Given the description of an element on the screen output the (x, y) to click on. 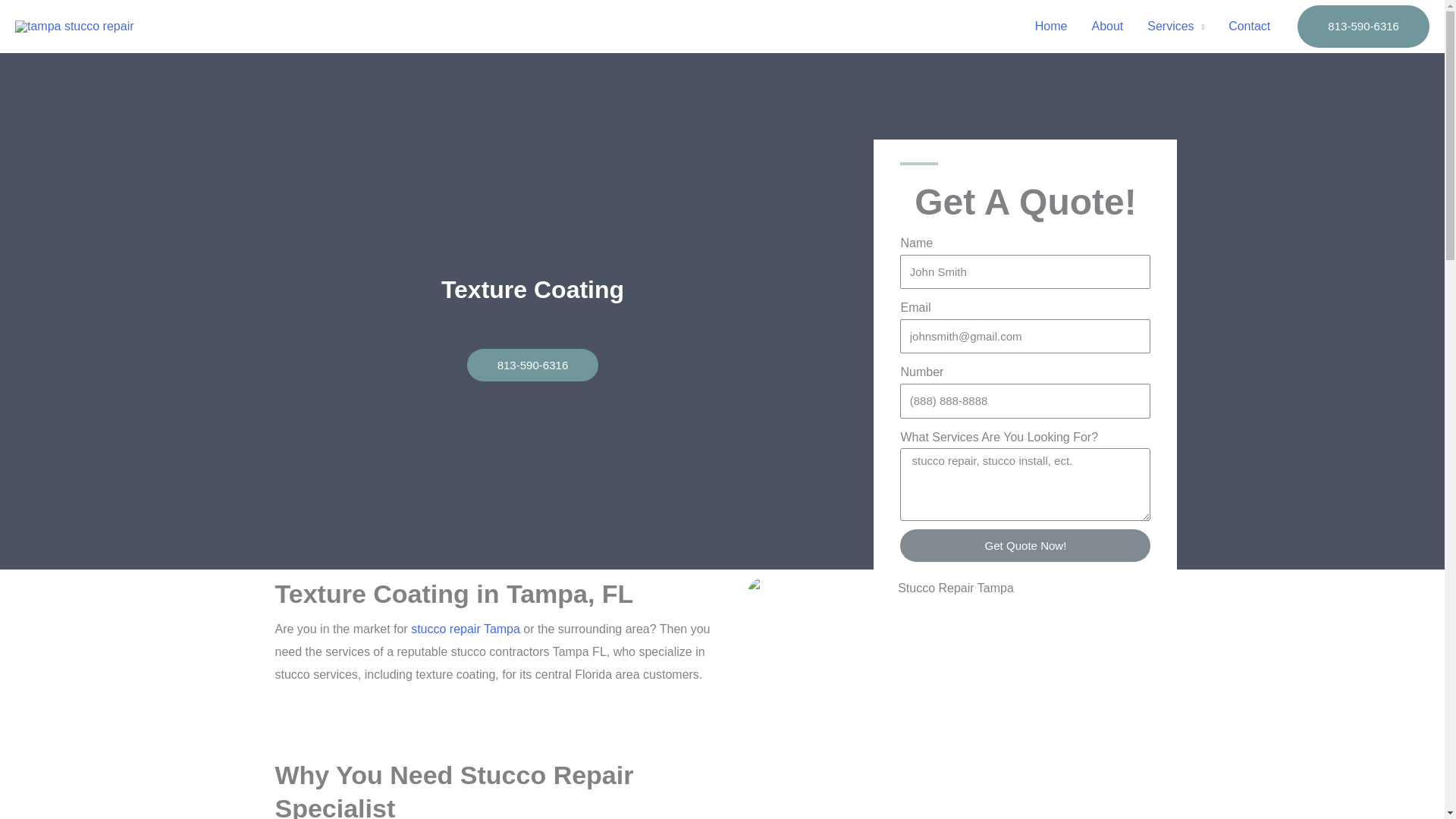
Home (1051, 26)
813-590-6316 (1363, 25)
Services (1175, 26)
About (1106, 26)
stucco repair Tampa (464, 628)
Contact (1248, 26)
813-590-6316 (532, 364)
Get Quote Now! (1024, 545)
